Given the description of an element on the screen output the (x, y) to click on. 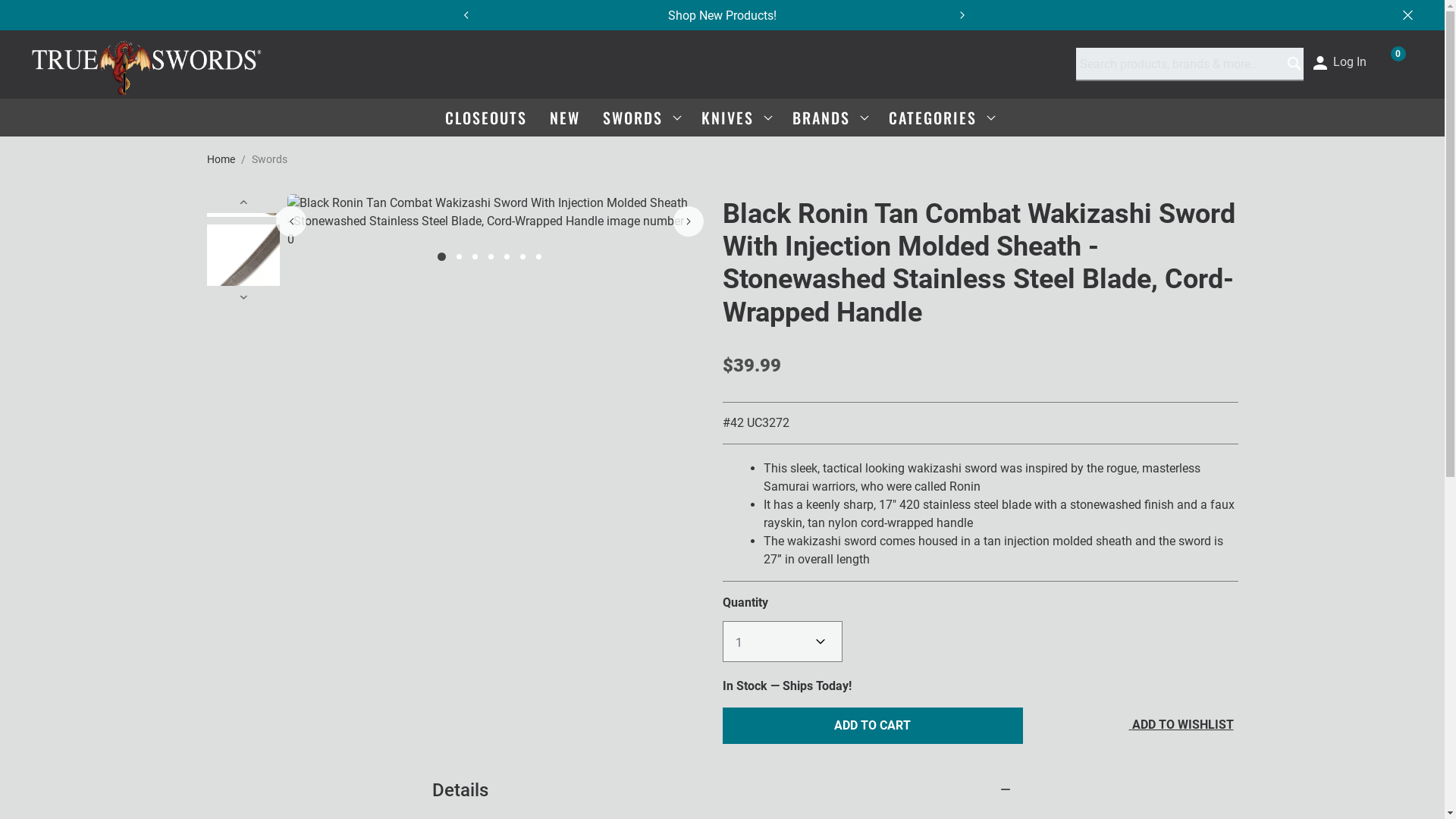
CLOSEOUTS (485, 117)
Shop New Products! (722, 14)
NEW (563, 117)
Log In (1339, 60)
0 (1395, 60)
Previous (464, 15)
Cart 0 Items (1395, 60)
Commerce Cloud Storefront Reference Architecture Home (146, 64)
Next (970, 15)
